Given the description of an element on the screen output the (x, y) to click on. 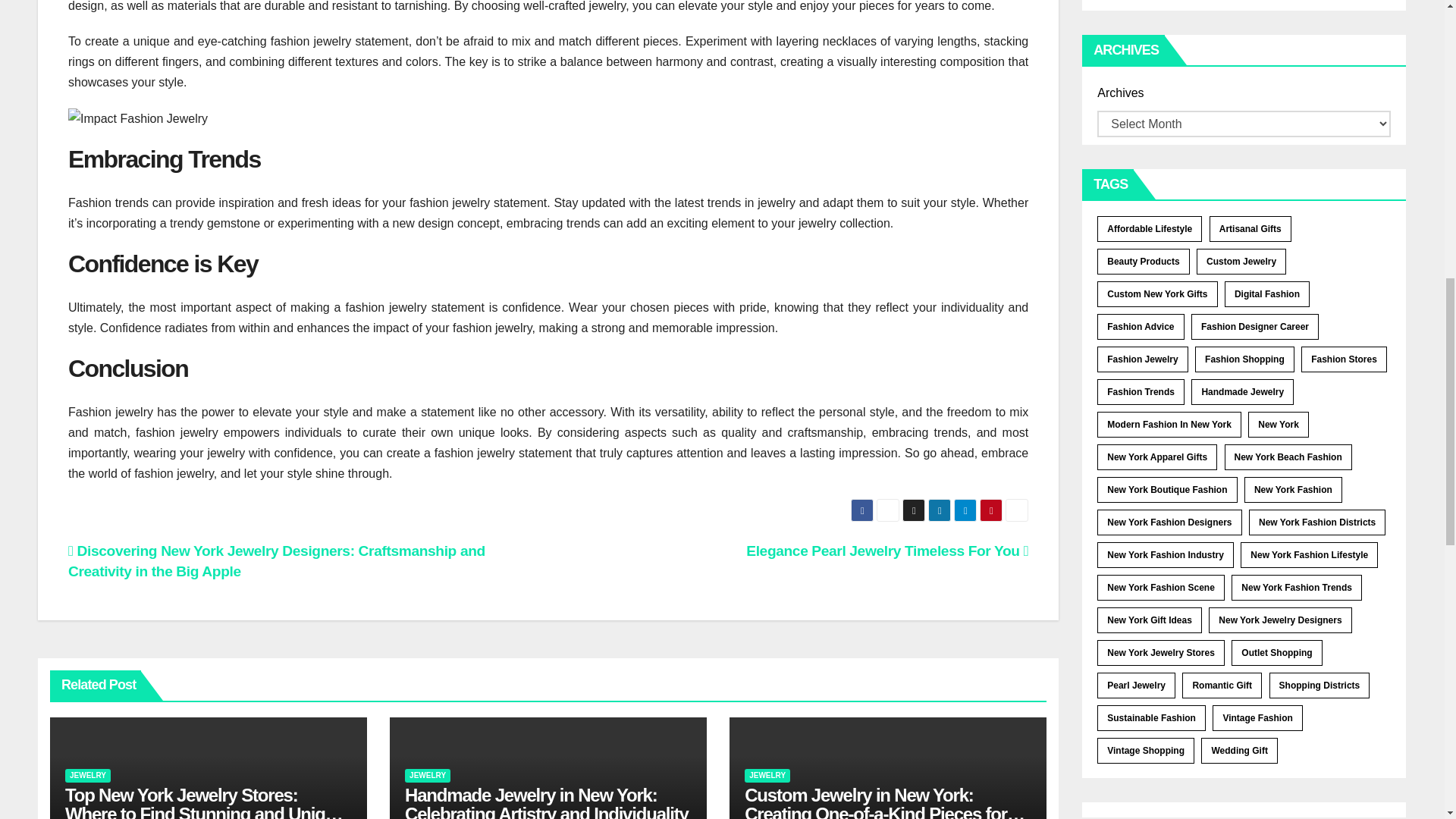
About to Make Your Fashion Jewelry Statement (138, 118)
JEWELRY (87, 775)
JEWELRY (767, 775)
JEWELRY (426, 775)
